Given the description of an element on the screen output the (x, y) to click on. 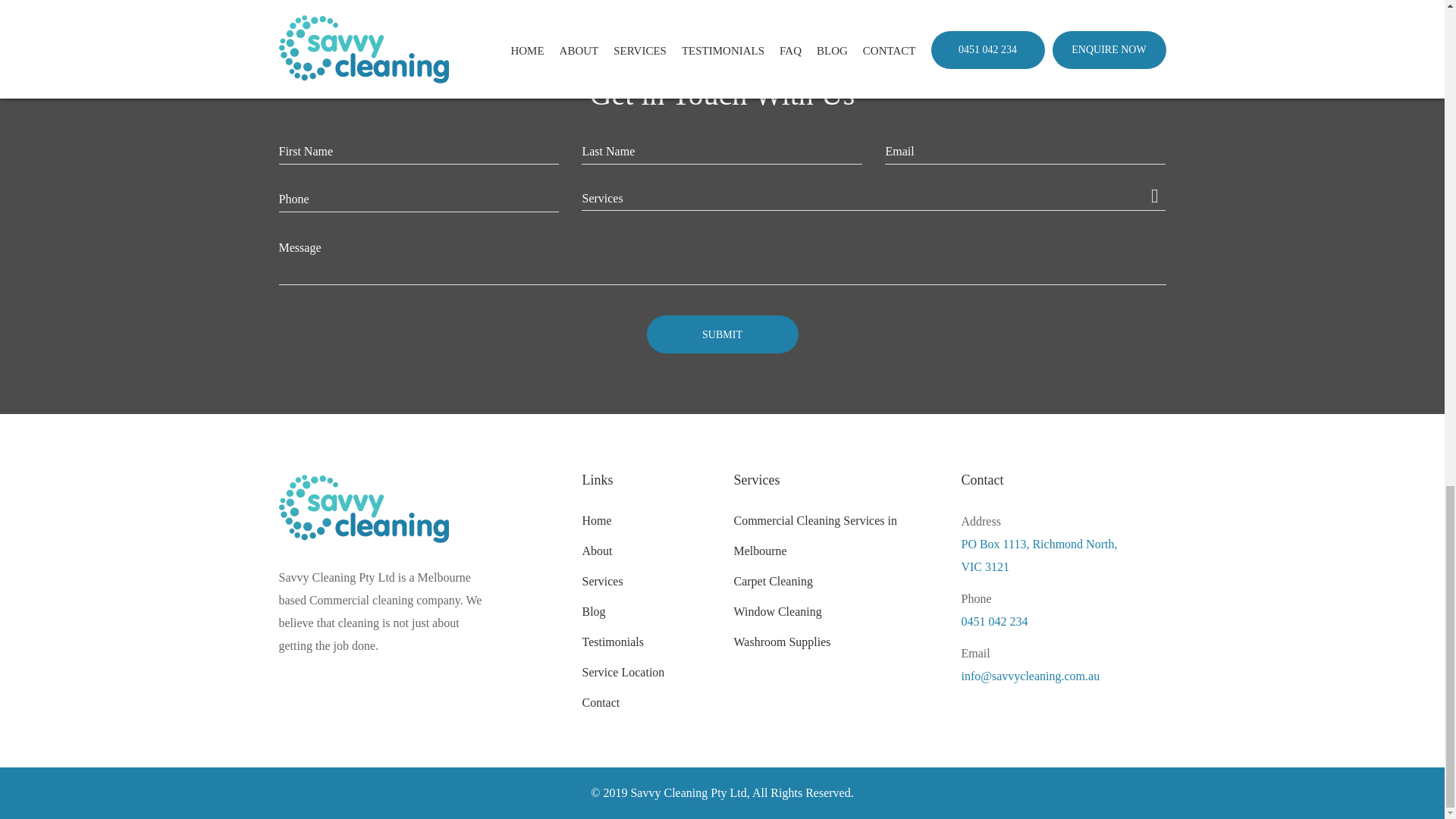
Savvy Cleaning (363, 517)
Window Cleaning (777, 611)
Carpet Cleaning (772, 581)
About (595, 550)
Blog (592, 611)
Services (601, 581)
Service Location (621, 671)
Submit (721, 333)
Contact (600, 702)
0451 042 234 (1063, 621)
Home (595, 520)
Commercial Cleaning Services in Melbourne  (814, 535)
Submit (721, 333)
Testimonials (611, 641)
Commercial cleaning (360, 599)
